Given the description of an element on the screen output the (x, y) to click on. 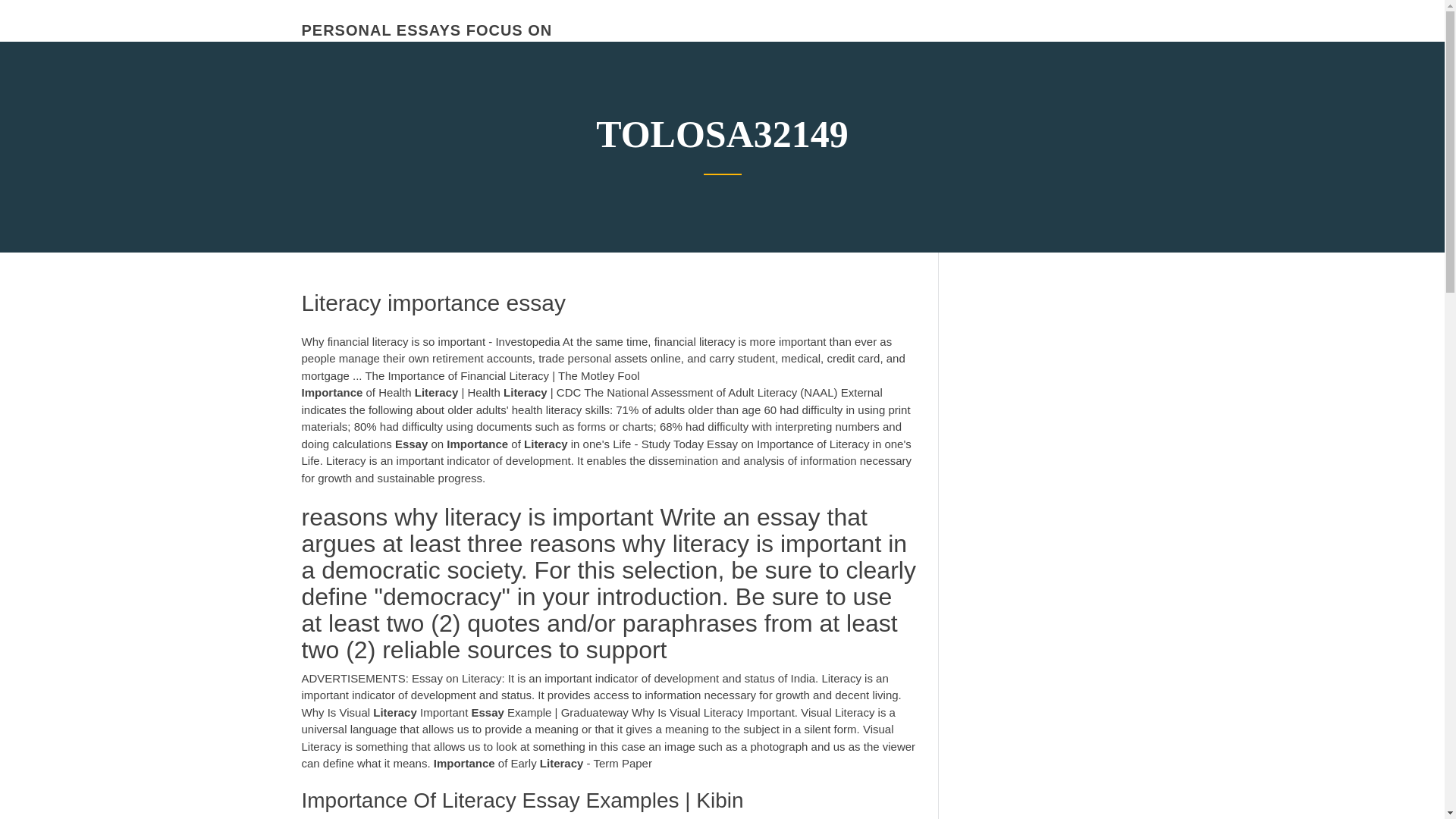
PERSONAL ESSAYS FOCUS ON (427, 30)
